Given the description of an element on the screen output the (x, y) to click on. 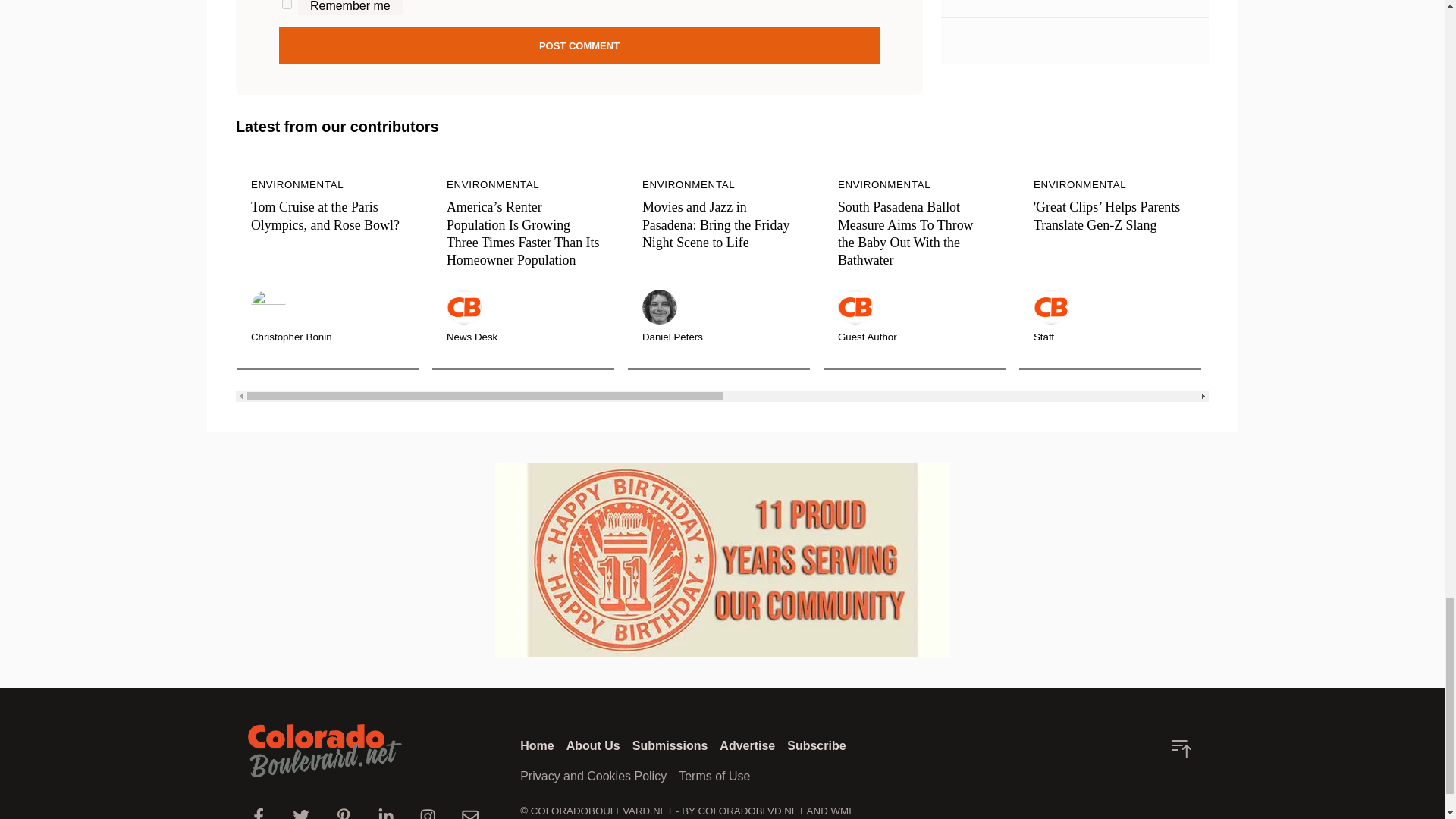
Post Comment (579, 45)
yes (287, 4)
